Given the description of an element on the screen output the (x, y) to click on. 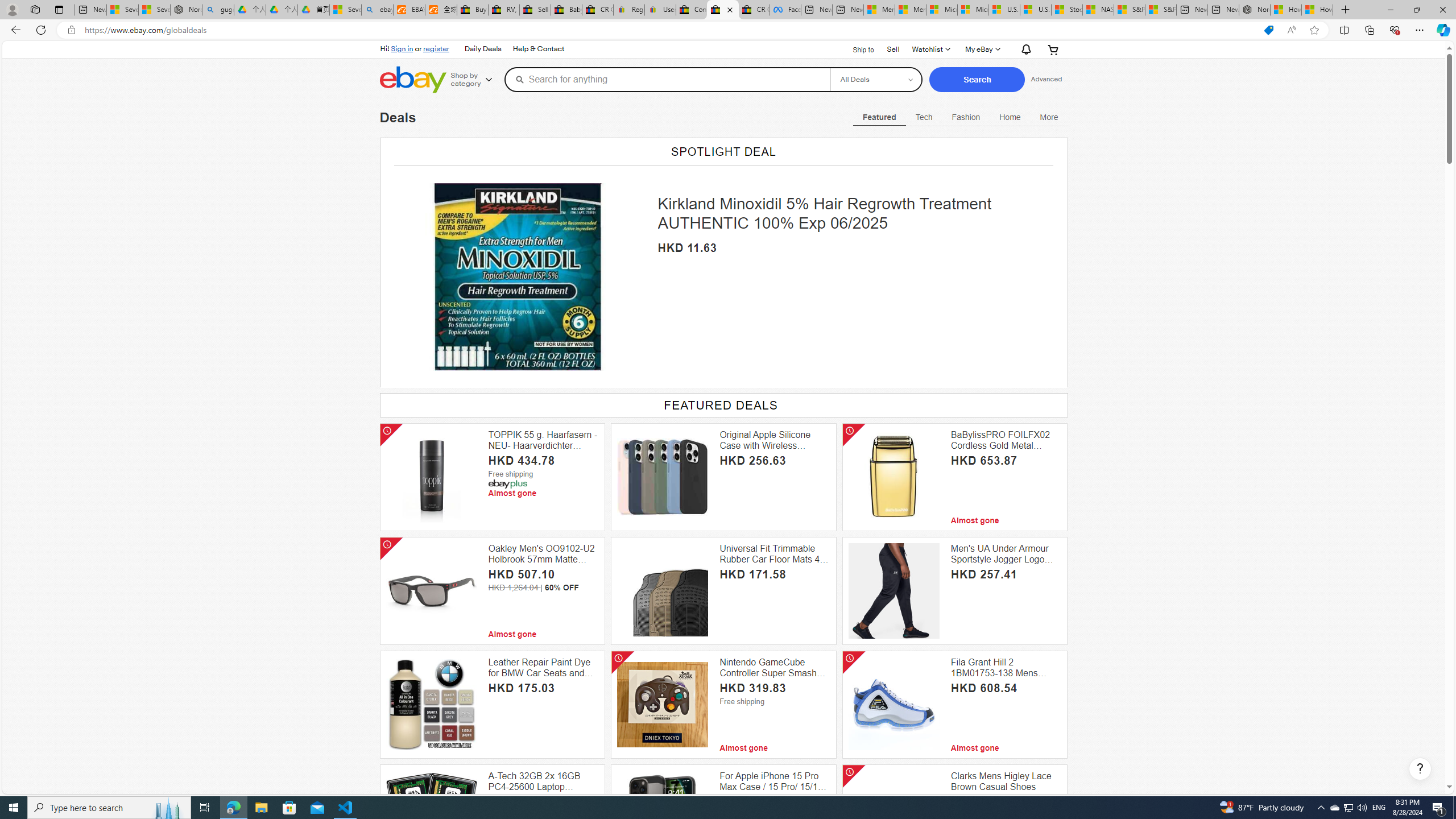
Browser essentials (1394, 29)
Select a category for search (875, 78)
Clarks Mens Higley Lace Brown Casual Shoes (1005, 781)
Class: ebayui-refit-nav-ul (960, 115)
Back (13, 29)
Your shopping cart (1052, 49)
User Privacy Notice | eBay (660, 9)
Close (1442, 9)
Minimize (1390, 9)
Daily Deals on eBay | Best deals and Free Shipping (722, 9)
Notifications (1023, 49)
Search (976, 79)
